Given the description of an element on the screen output the (x, y) to click on. 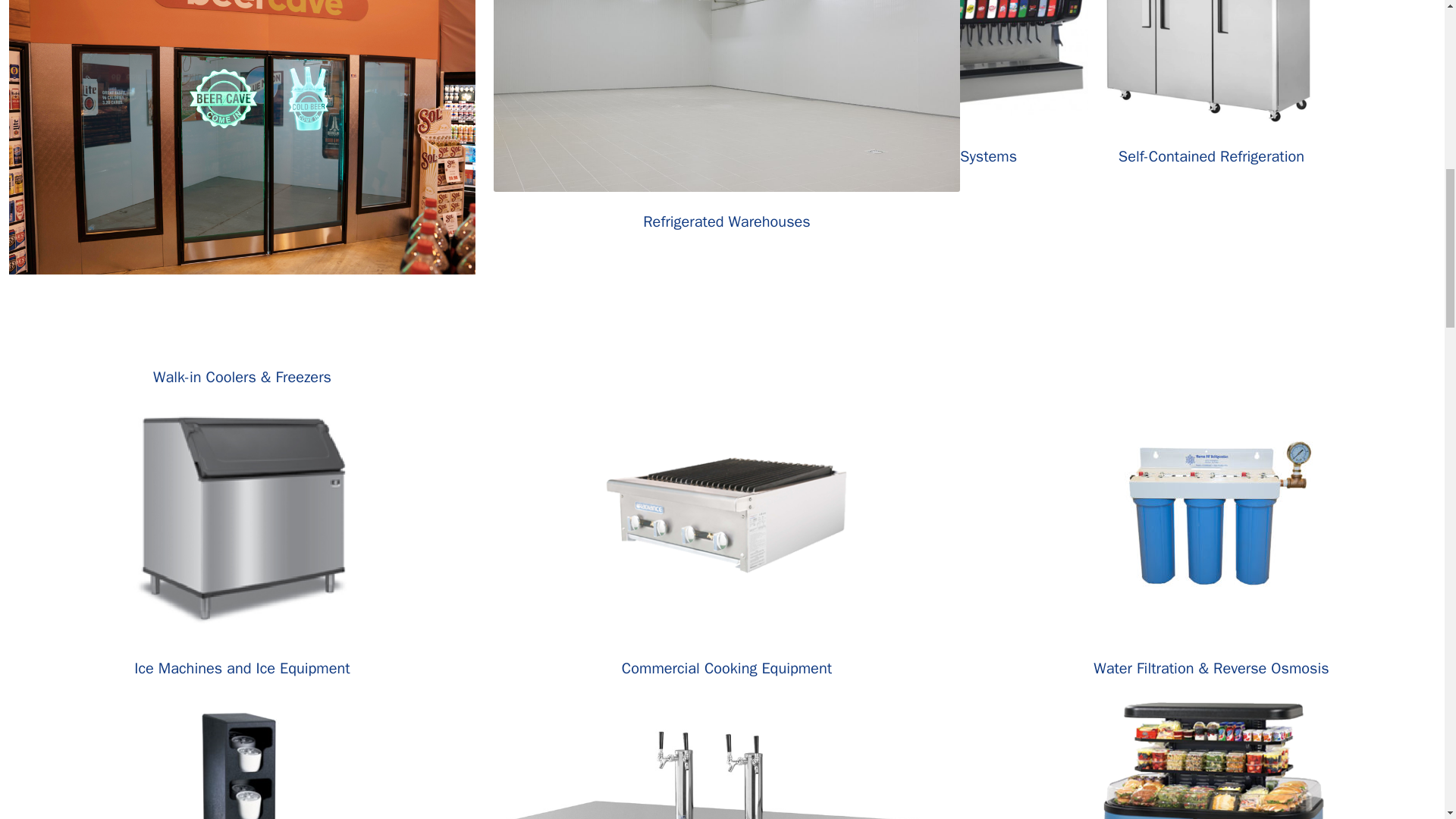
Ice Machines and Ice Equipment (241, 668)
Commercial Cooking Equipment (726, 668)
Self-Contained Refrigeration (1211, 156)
Refrigerated Warehouses (726, 221)
